Given the description of an element on the screen output the (x, y) to click on. 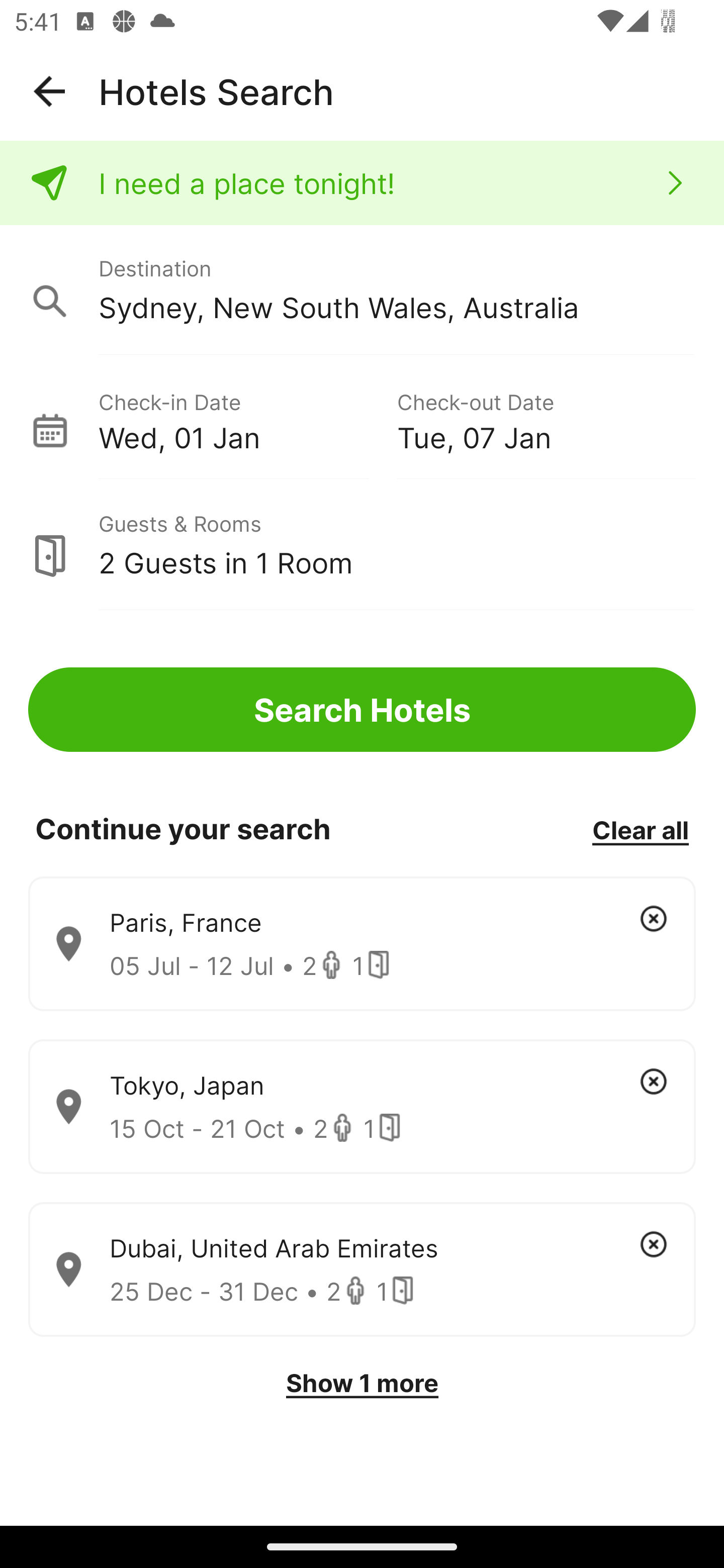
I need a place tonight! (362, 183)
Destination Sydney, New South Wales, Australia (362, 290)
Check-in Date Wed, 01 Jan (247, 418)
Check-out Date Tue, 07 Jan (546, 418)
Guests & Rooms 2 Guests in 1 Room (362, 545)
Search Hotels (361, 709)
Clear all (640, 829)
Paris, France 05 Jul - 12 Jul • 2  1  (361, 943)
Tokyo, Japan 15 Oct - 21 Oct • 2  1  (361, 1106)
Show 1 more (362, 1382)
